Given the description of an element on the screen output the (x, y) to click on. 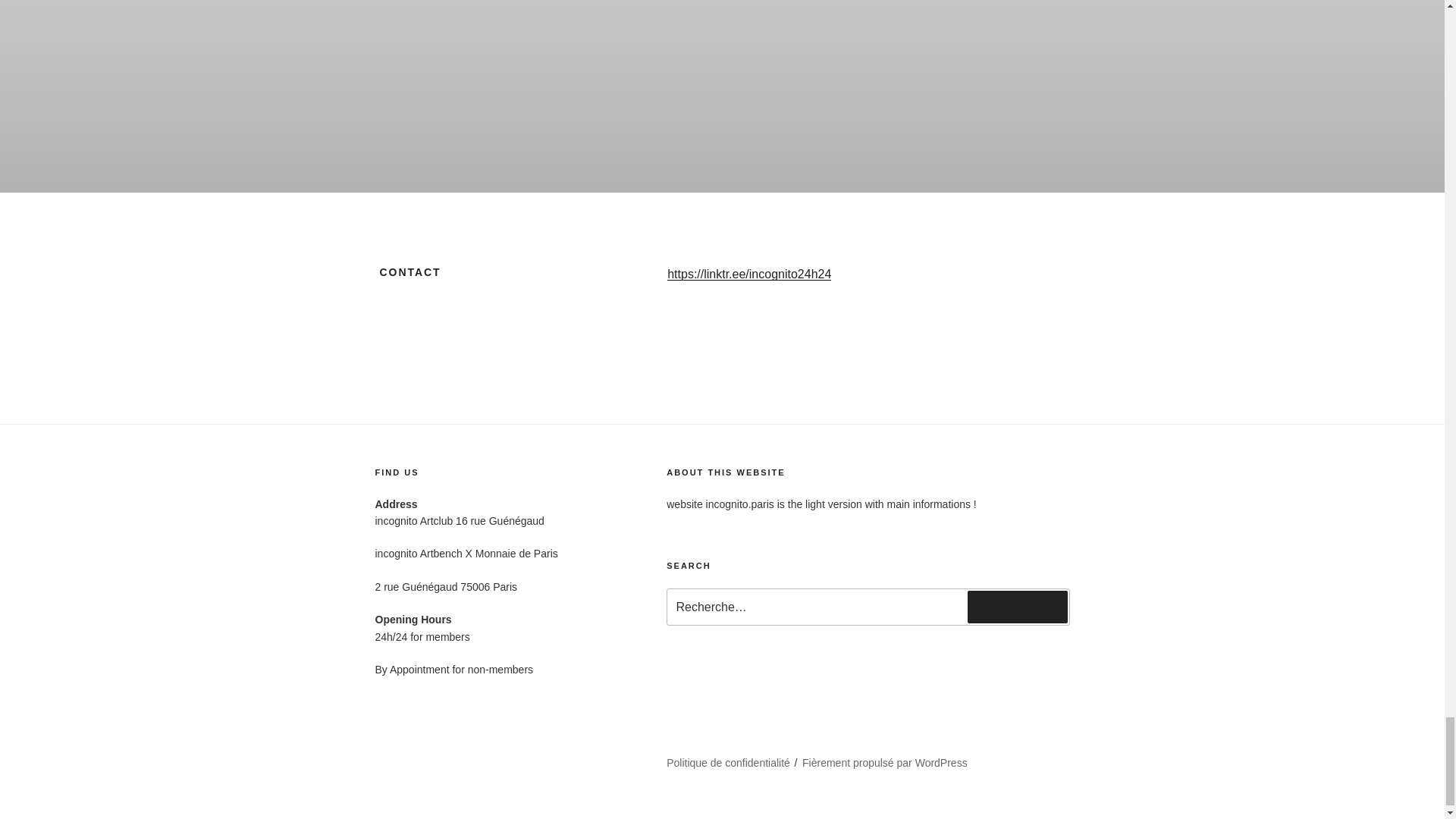
E-mail (396, 808)
Recherche (1017, 606)
Instagram (486, 756)
Soundcloud (545, 782)
Facebook (406, 756)
YouTube (403, 782)
Twitter (557, 756)
Vimeo (470, 782)
